Given the description of an element on the screen output the (x, y) to click on. 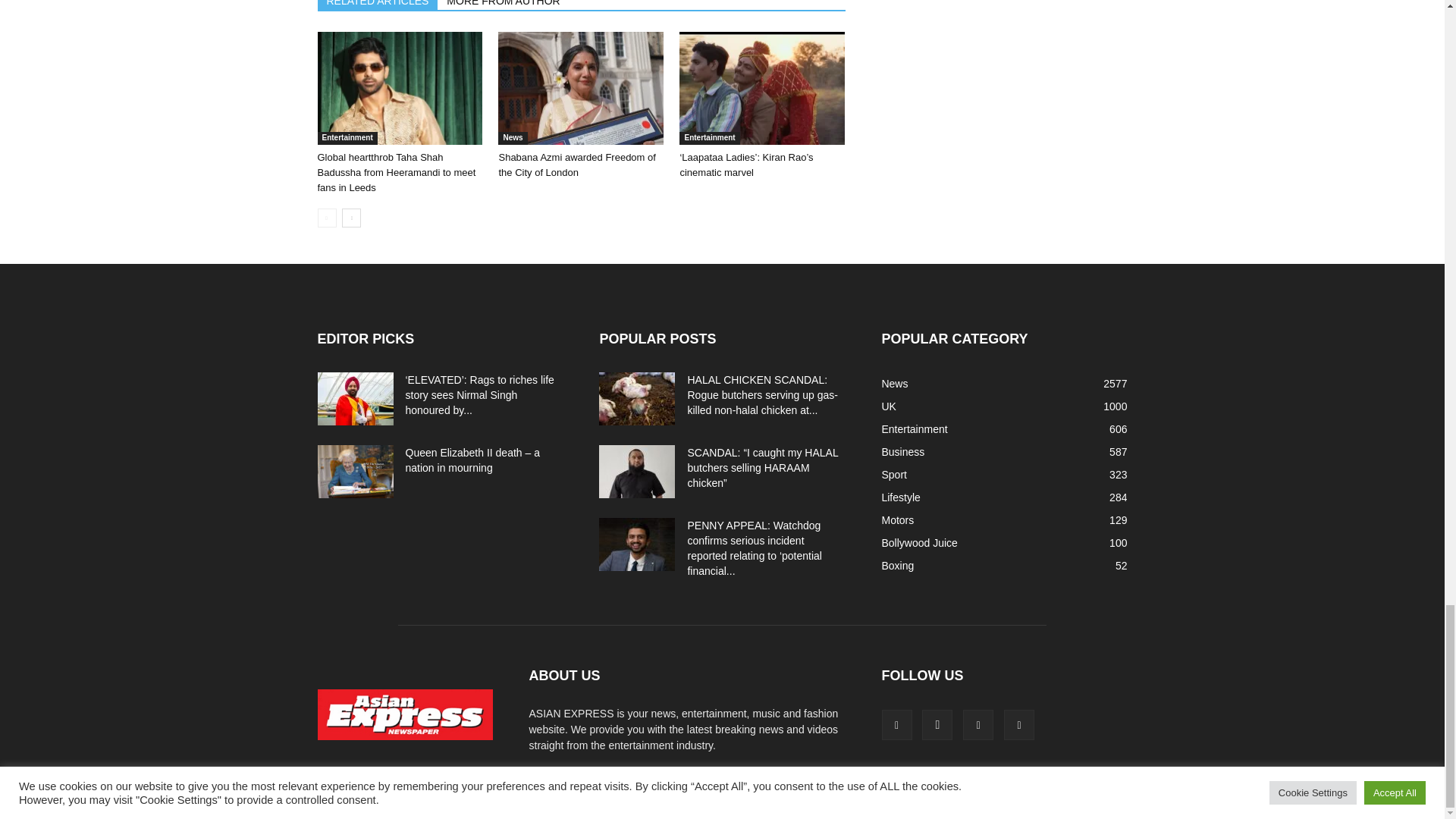
Shabana Azmi awarded Freedom of the City of London (580, 87)
Shabana Azmi awarded Freedom of the City of London (576, 164)
